Given the description of an element on the screen output the (x, y) to click on. 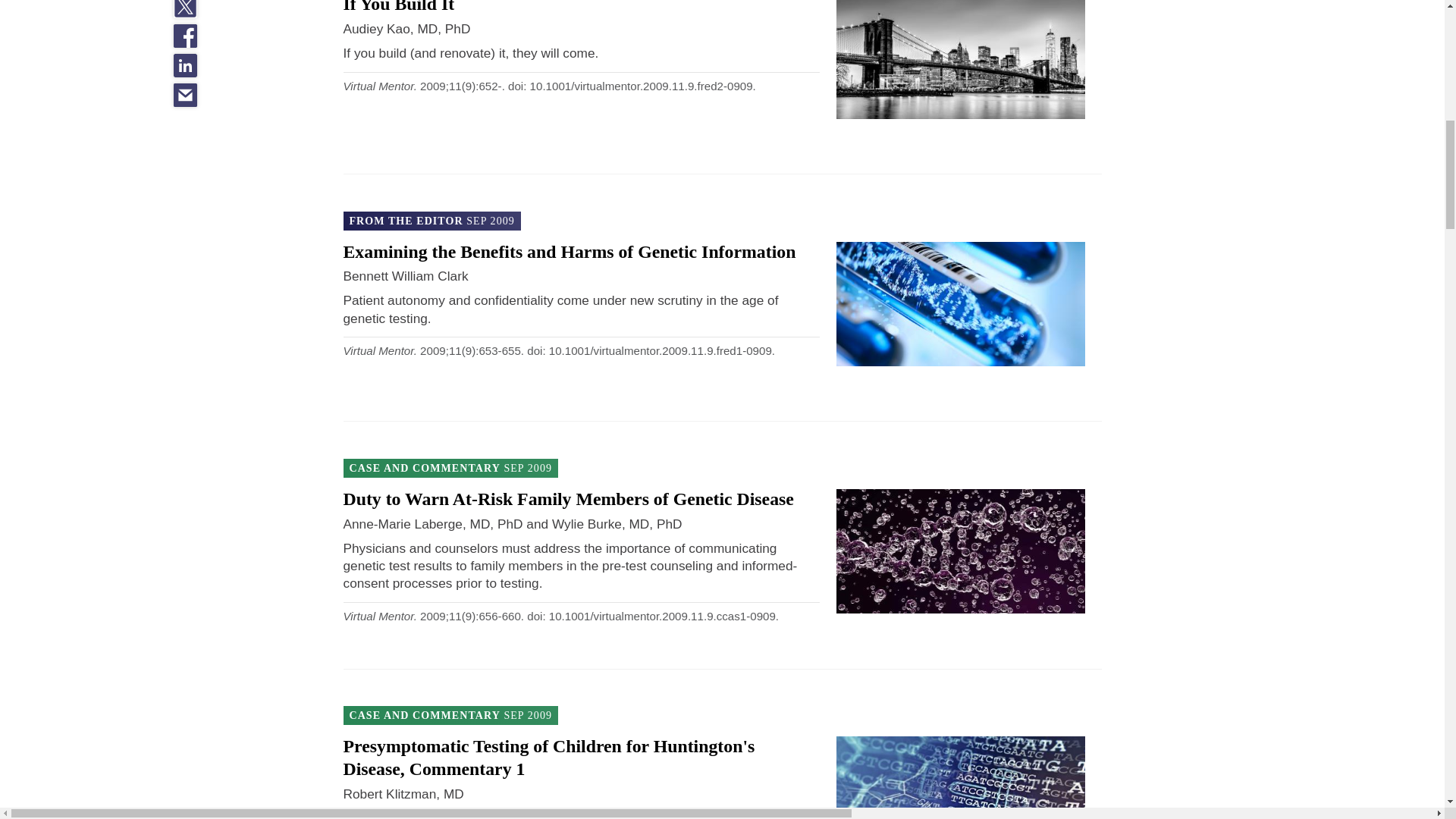
Duty to Warn At-Risk Family Members of Genetic Disease (567, 498)
If You Build It (398, 6)
Examining the Benefits and Harms of Genetic Information (568, 251)
